Given the description of an element on the screen output the (x, y) to click on. 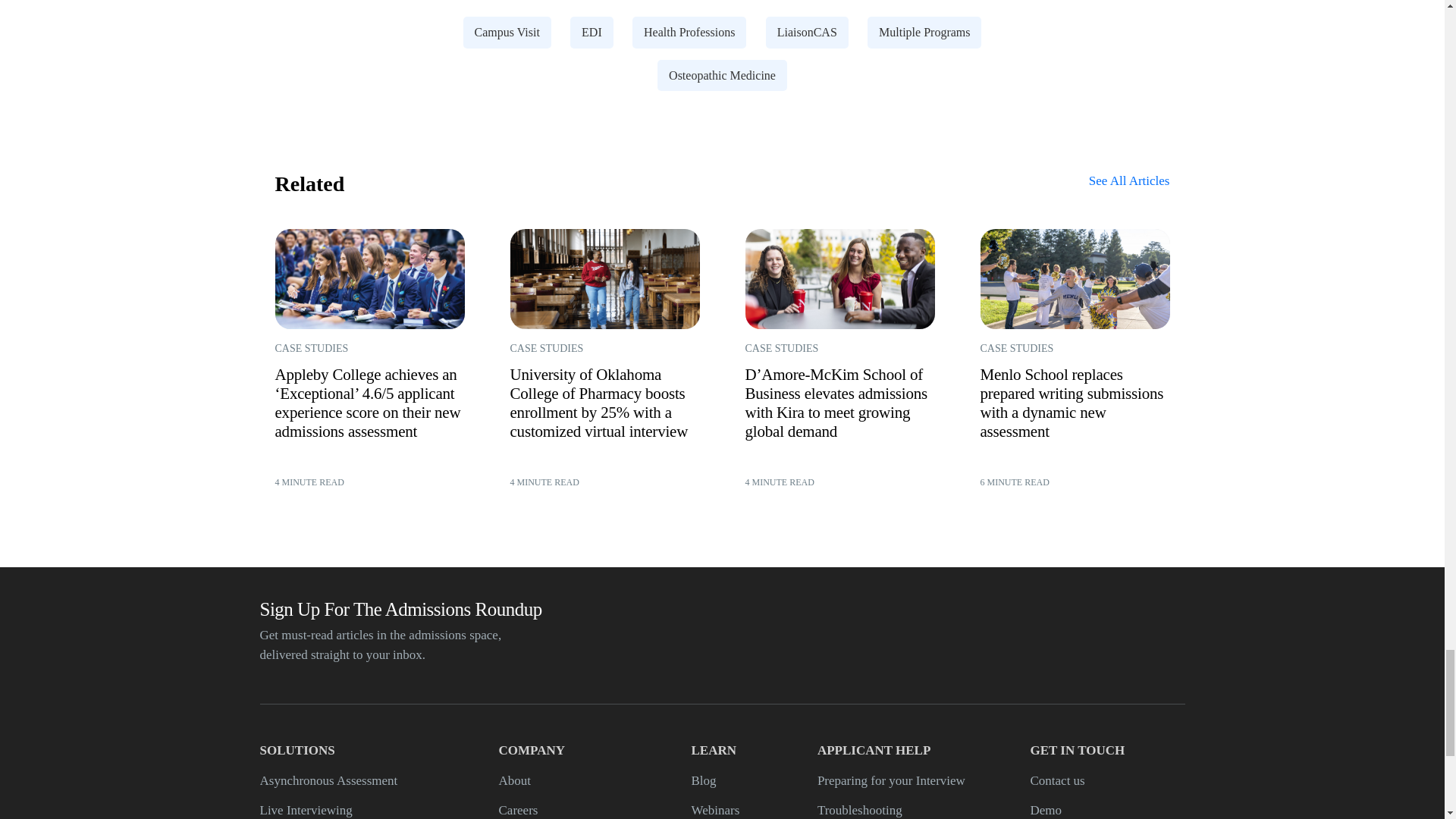
newsletter signup form (1007, 635)
